Given the description of an element on the screen output the (x, y) to click on. 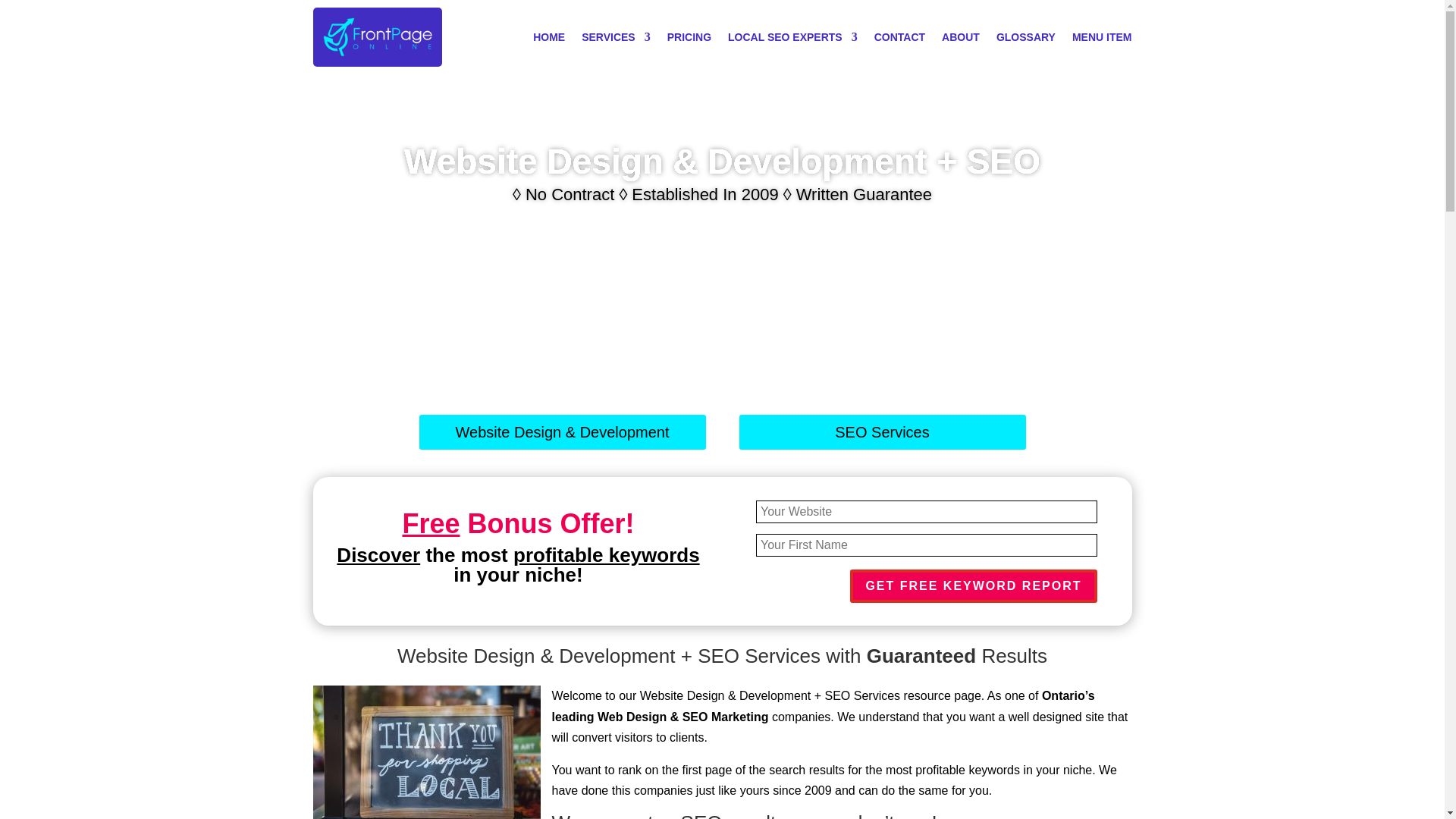
SEO Services (881, 431)
GET FREE KEYWORD REPORT (973, 586)
LOCAL SEO EXPERTS (792, 36)
MENU ITEM (1101, 36)
SERVICES (615, 36)
GLOSSARY (1025, 36)
